Given the description of an element on the screen output the (x, y) to click on. 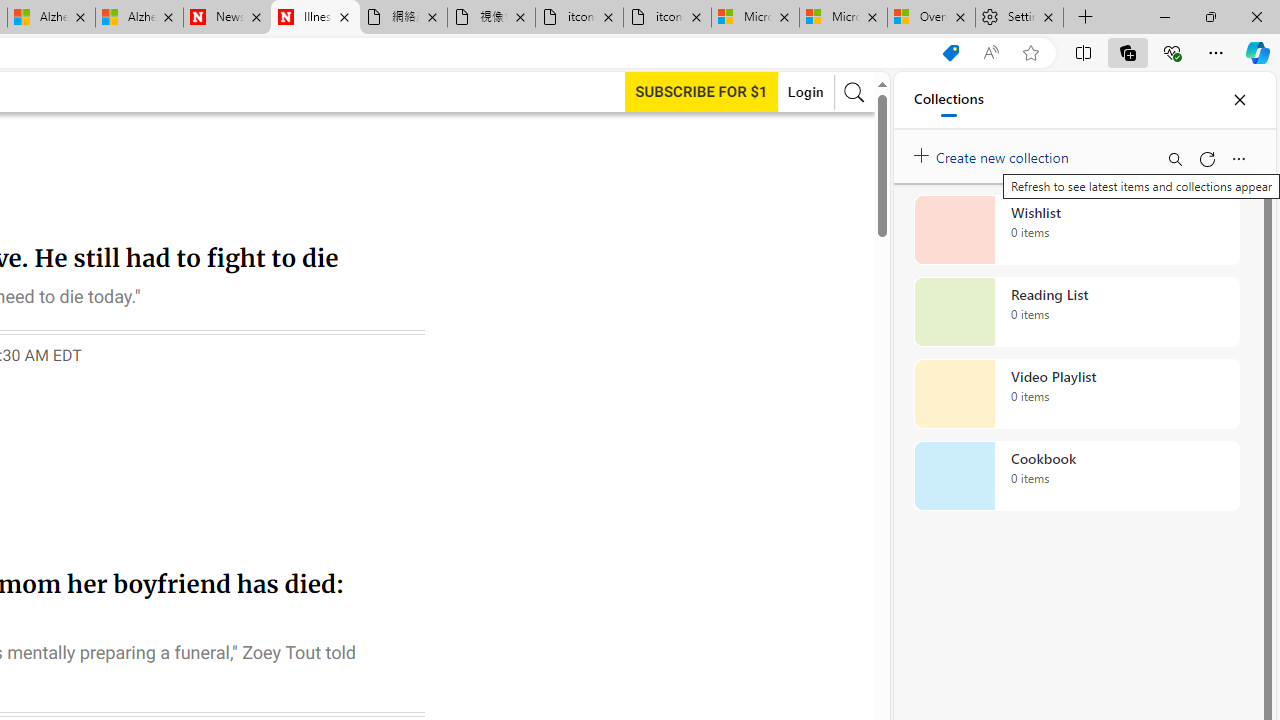
Subscribe to our service (701, 91)
